Given the description of an element on the screen output the (x, y) to click on. 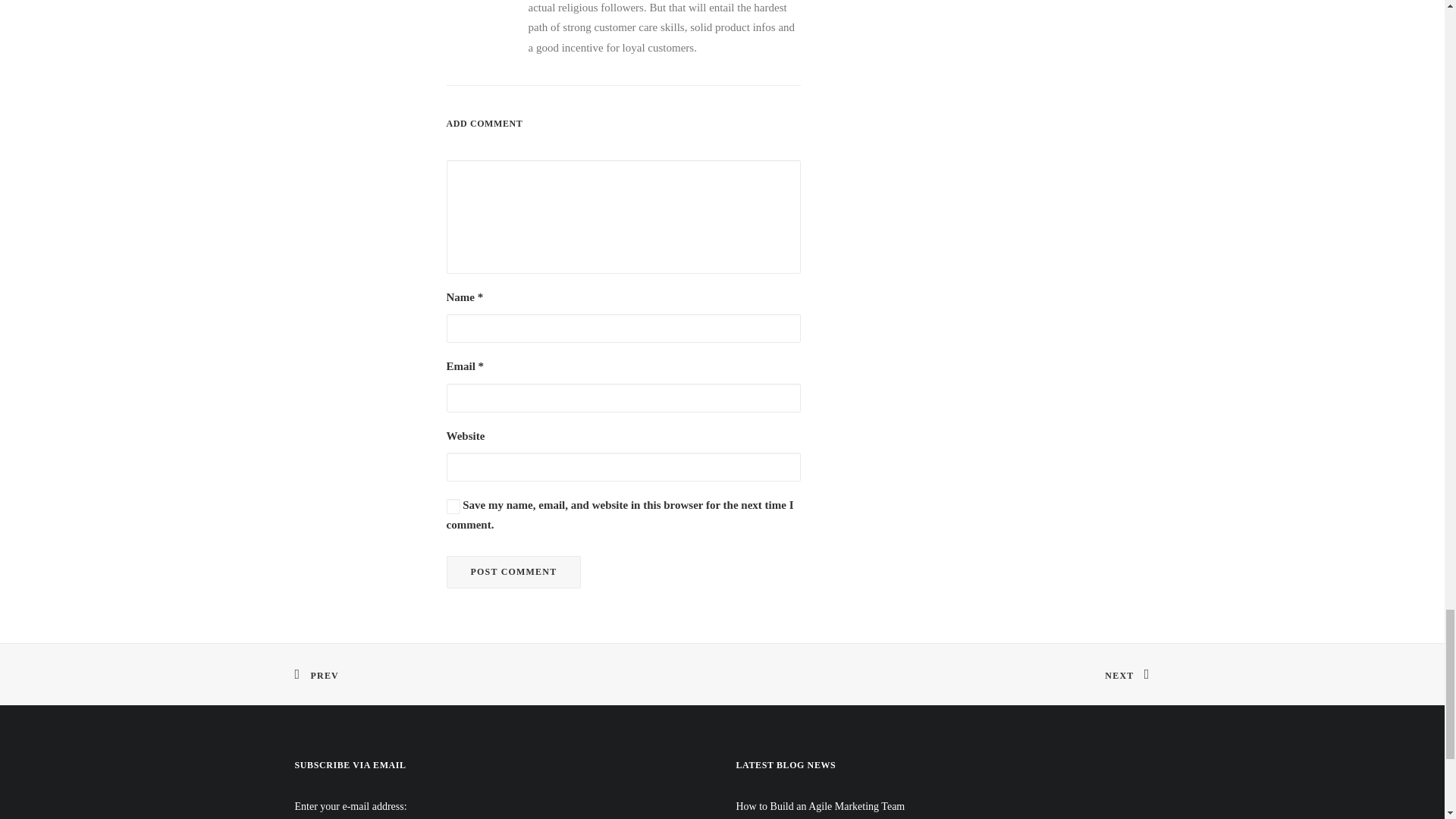
yes (452, 506)
Post Comment (512, 572)
Post Comment (512, 572)
